Given the description of an element on the screen output the (x, y) to click on. 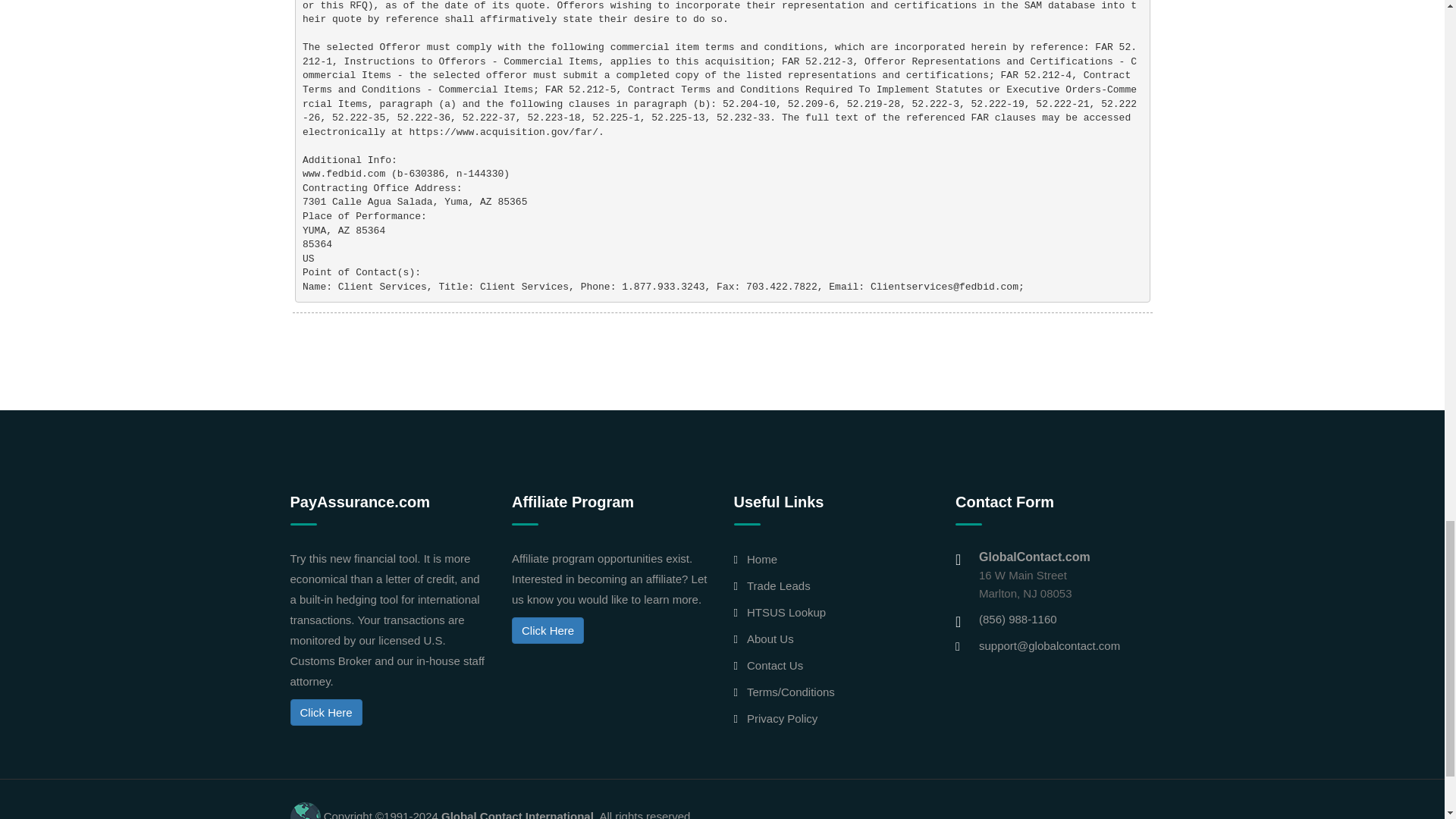
Home (761, 558)
Click Here (325, 712)
Contact Us (774, 665)
Global Contact International (517, 814)
Click Here (547, 630)
Trade Leads (778, 585)
About Us (769, 638)
HTSUS Lookup (785, 612)
Privacy Policy (781, 717)
